Given the description of an element on the screen output the (x, y) to click on. 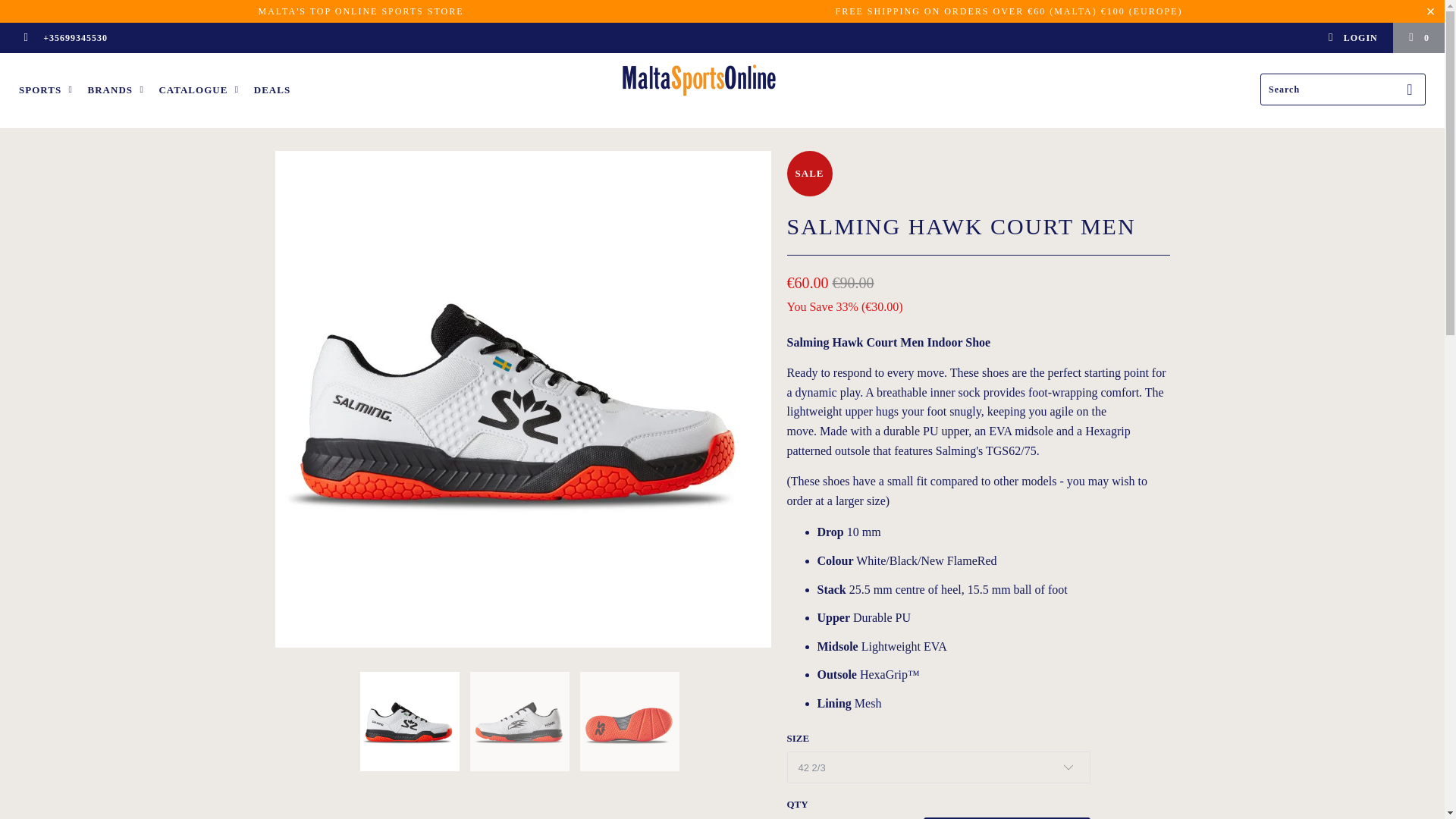
MaltaSportsOnline on Facebook (25, 37)
MaltaSportsOnline (729, 80)
My Account  (1351, 37)
